Given the description of an element on the screen output the (x, y) to click on. 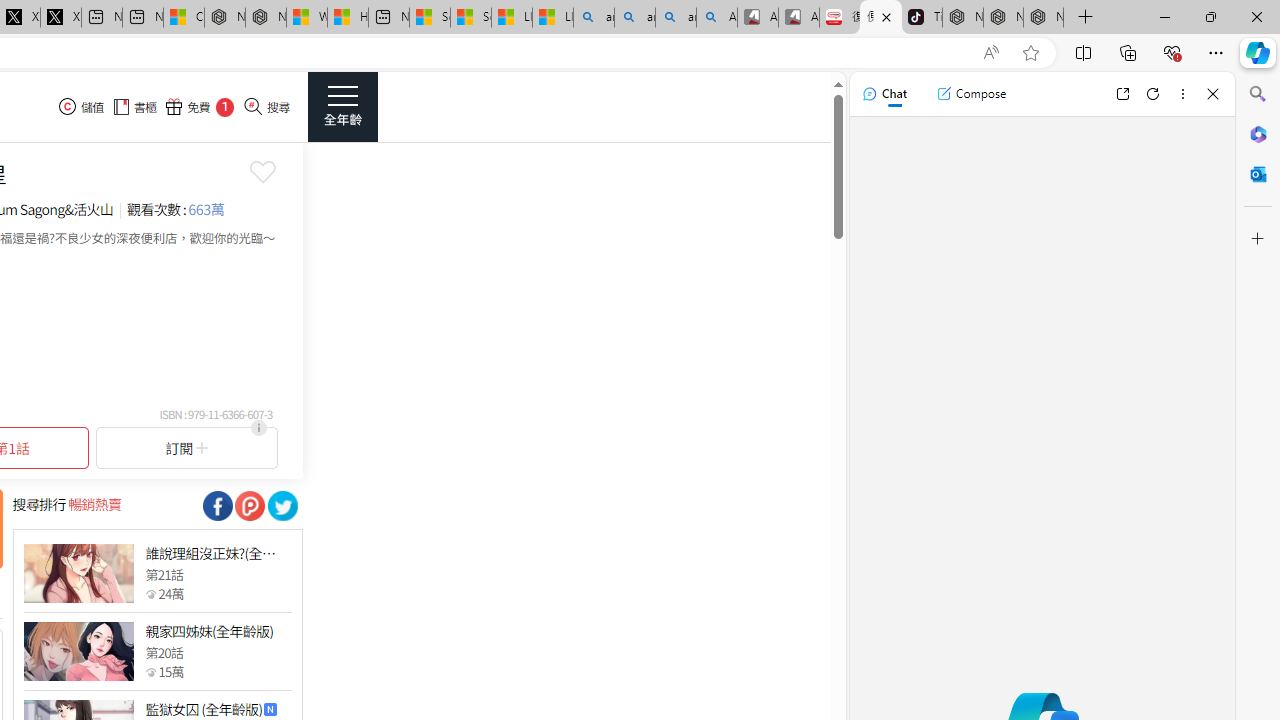
Copilot (Ctrl+Shift+.) (1258, 52)
Outlook (1258, 174)
New Tab (1085, 17)
Collections (1128, 52)
TikTok (922, 17)
X (60, 17)
Nordace - Summer Adventures 2024 (265, 17)
Close (1213, 93)
Search (1258, 94)
Class: side_menu_btn actionRightMenuBtn (342, 106)
Compose (971, 93)
Huge shark washes ashore at New York City beach | Watch (347, 17)
